Given the description of an element on the screen output the (x, y) to click on. 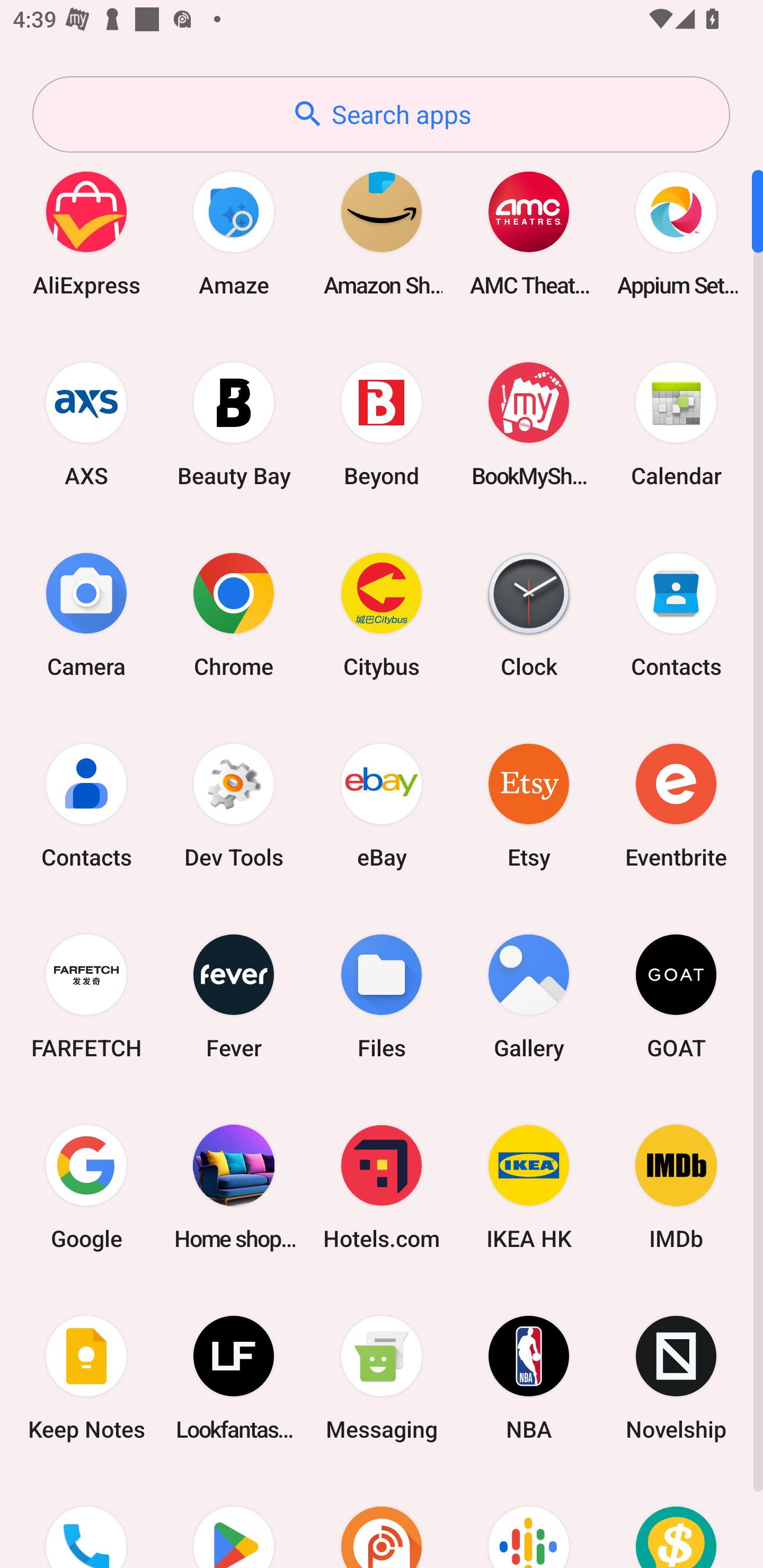
  Search apps (381, 114)
AliExpress (86, 233)
Amaze (233, 233)
Amazon Shopping (381, 233)
AMC Theatres (528, 233)
Appium Settings (676, 233)
AXS (86, 424)
Beauty Bay (233, 424)
Beyond (381, 424)
BookMyShow (528, 424)
Calendar (676, 424)
Camera (86, 614)
Chrome (233, 614)
Citybus (381, 614)
Clock (528, 614)
Contacts (676, 614)
Contacts (86, 805)
Dev Tools (233, 805)
eBay (381, 805)
Etsy (528, 805)
Eventbrite (676, 805)
FARFETCH (86, 996)
Fever (233, 996)
Files (381, 996)
Gallery (528, 996)
GOAT (676, 996)
Google (86, 1186)
Home shopping (233, 1186)
Hotels.com (381, 1186)
IKEA HK (528, 1186)
IMDb (676, 1186)
Keep Notes (86, 1377)
Lookfantastic (233, 1377)
Messaging (381, 1377)
NBA (528, 1377)
Novelship (676, 1377)
Phone (86, 1520)
Play Store (233, 1520)
Podcast Addict (381, 1520)
Podcasts (528, 1520)
Price (676, 1520)
